Given the description of an element on the screen output the (x, y) to click on. 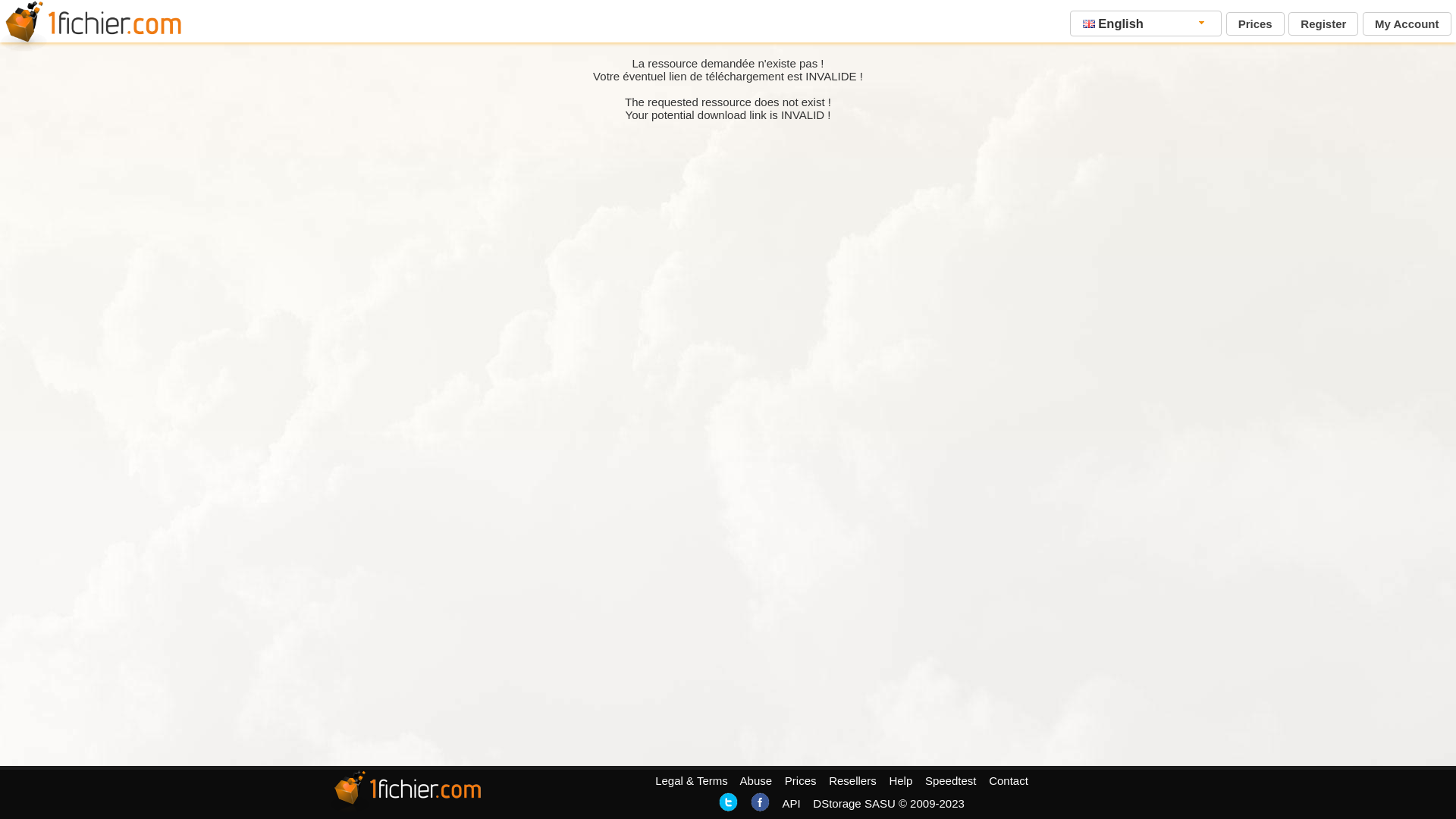
Help Element type: text (900, 780)
Prices Element type: text (1255, 23)
My Account Element type: text (1406, 23)
Prices Element type: text (800, 780)
Contact Element type: text (1008, 780)
API Element type: text (790, 803)
Speedtest Element type: text (950, 780)
Legal & Terms Element type: text (691, 780)
Abuse Element type: text (756, 780)
Register Element type: text (1323, 23)
Resellers Element type: text (852, 780)
